Given the description of an element on the screen output the (x, y) to click on. 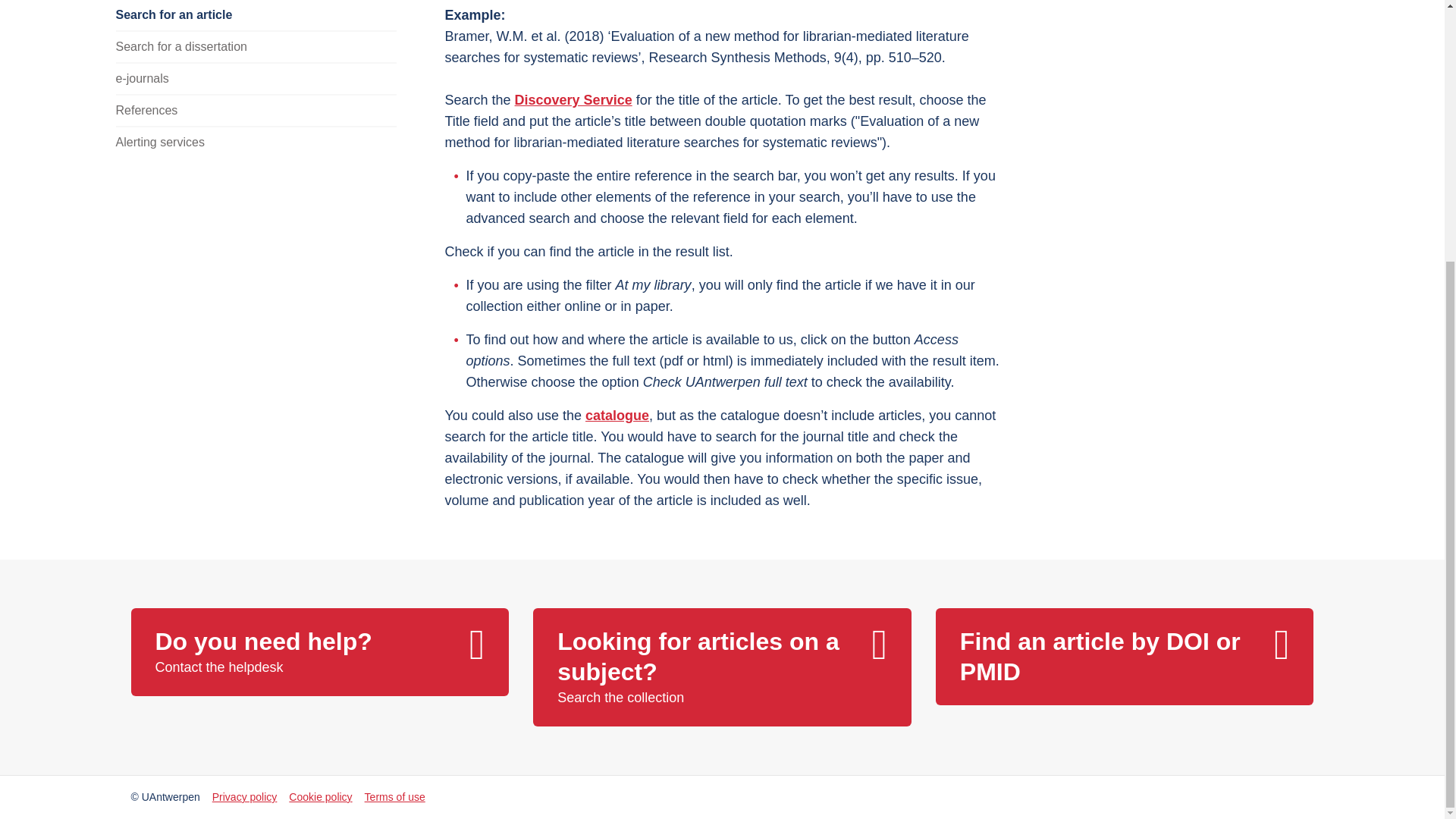
Alerting services (721, 667)
Find an article by DOI or PMID (255, 142)
References (1125, 656)
Search for a dissertation (255, 110)
Discovery Service (255, 46)
Privacy policy (573, 99)
catalogue (319, 652)
Cookie policy (244, 796)
